Given the description of an element on the screen output the (x, y) to click on. 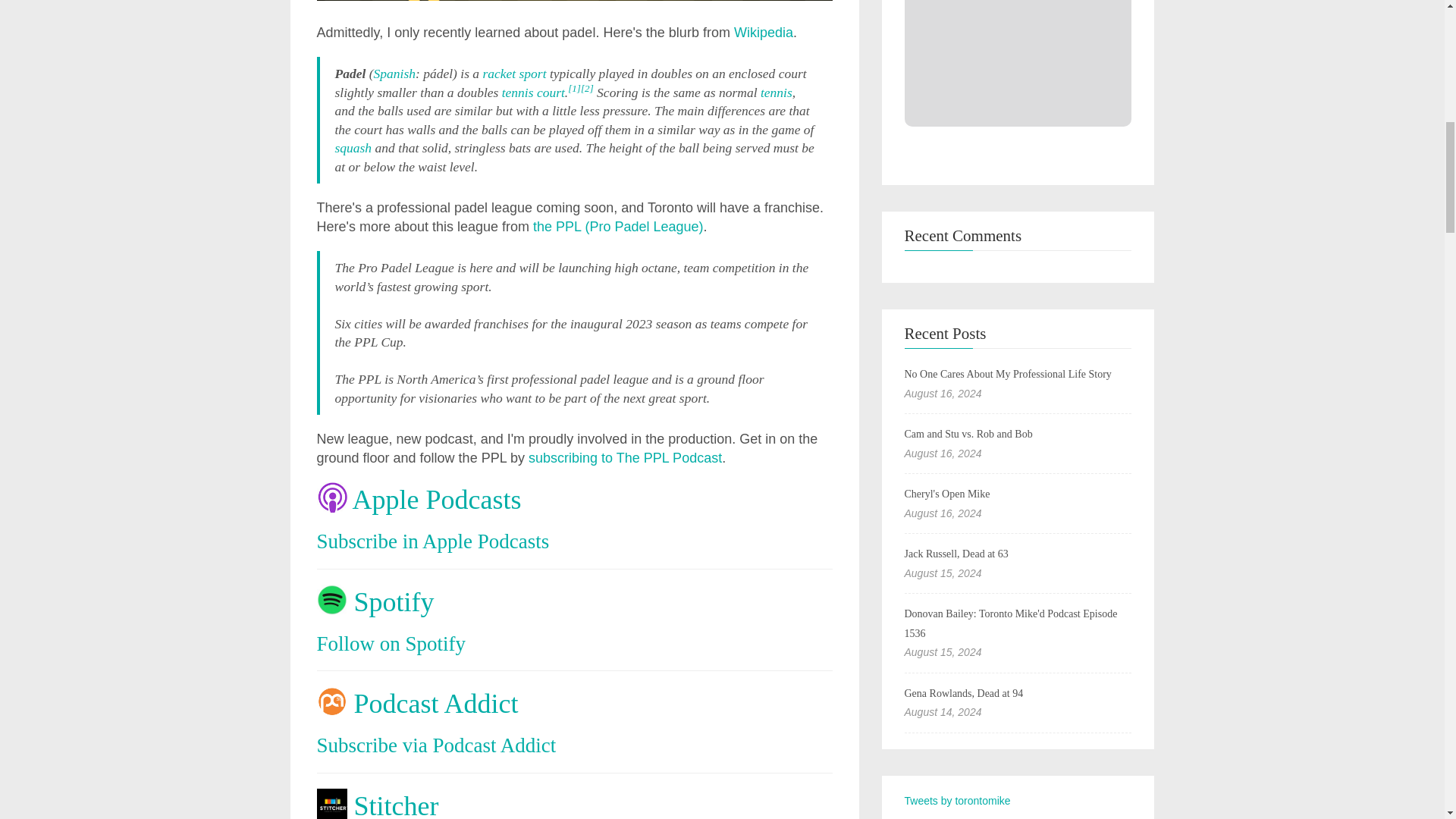
Apple Podcasts (436, 499)
tennis (776, 92)
Subscribe in Apple Podcasts (433, 540)
Subscribe via Podcast Addict (436, 744)
squash (353, 147)
Podcast Addict (435, 704)
Follow on Spotify (391, 643)
Spotify (393, 602)
racket sport (513, 73)
tennis court (533, 92)
